Given the description of an element on the screen output the (x, y) to click on. 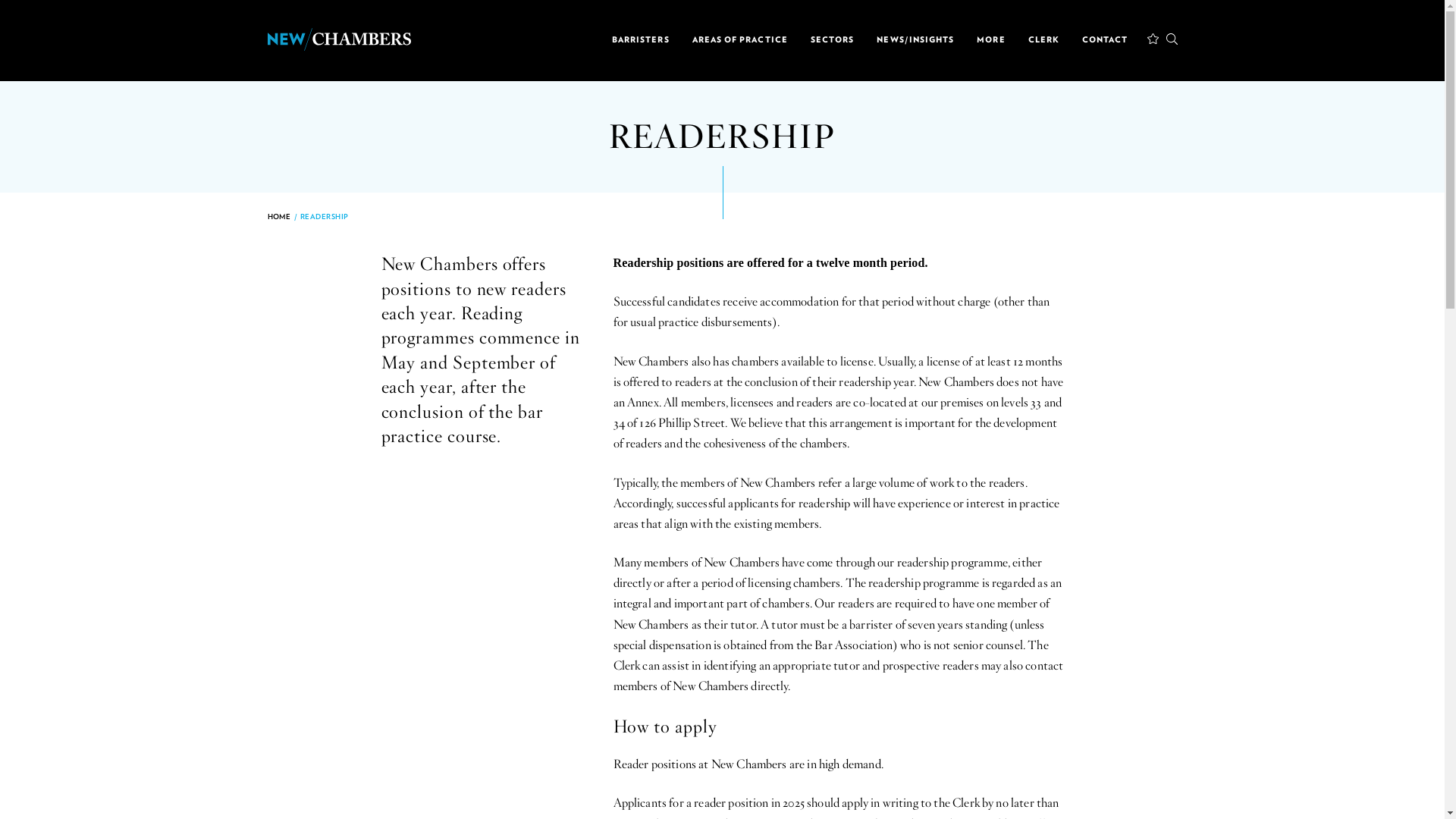
SECTORS Element type: text (832, 40)
NEWS/INSIGHTS Element type: text (914, 40)
AREAS OF PRACTICE Element type: text (739, 40)
MORE Element type: text (990, 40)
New Chambers Element type: text (338, 38)
CONTACT Element type: text (1105, 40)
BARRISTERS Element type: text (640, 40)
HOME Element type: text (278, 216)
CLERK Element type: text (1043, 40)
